Given the description of an element on the screen output the (x, y) to click on. 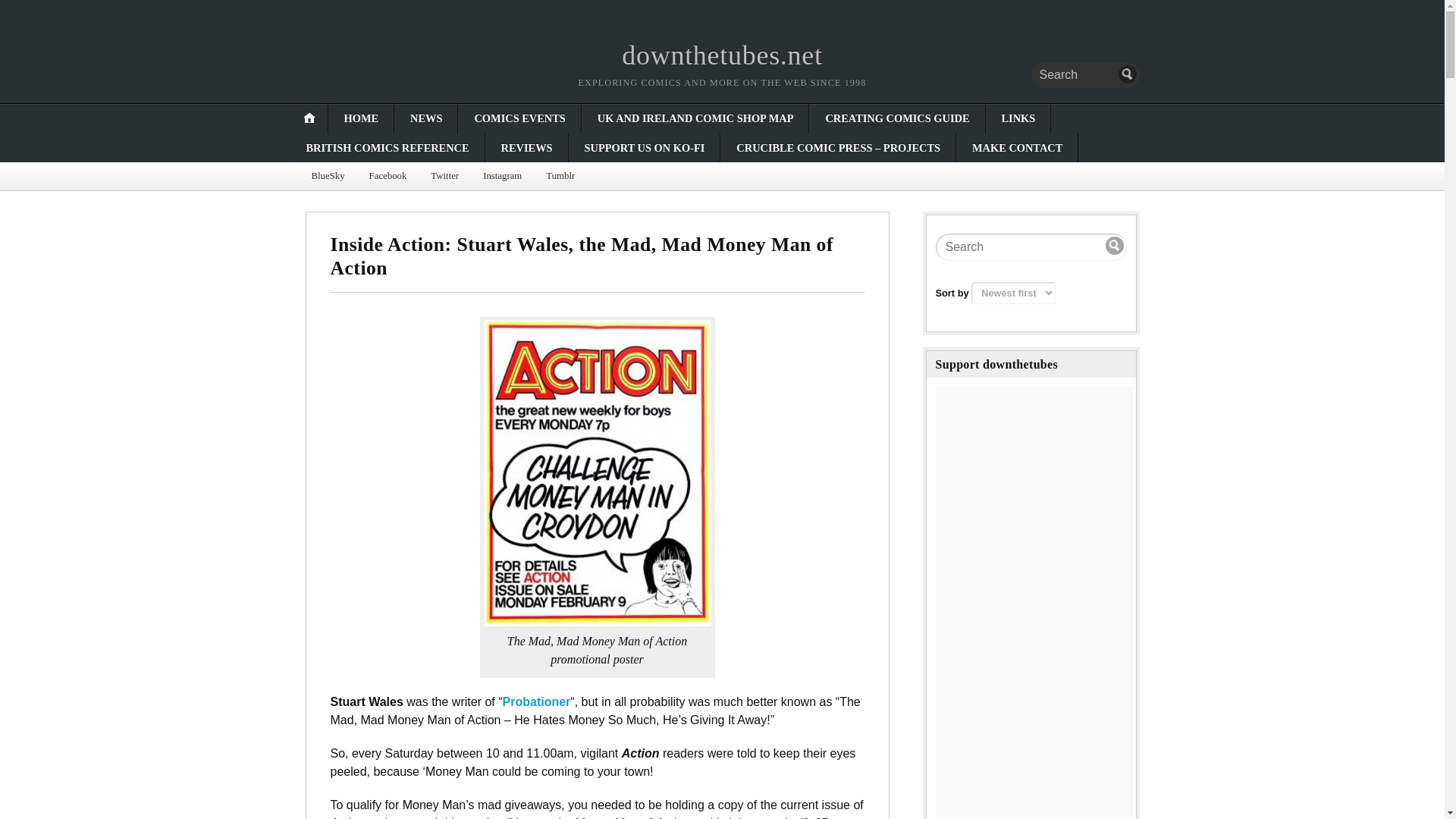
BRITISH COMICS REFERENCE (387, 147)
NEWS (425, 118)
CREATING COMICS GUIDE (896, 118)
UK AND IRELAND COMIC SHOP MAP (695, 118)
Home (721, 55)
HOME (361, 118)
COMICS EVENTS (518, 118)
downthetubes.net (721, 55)
LINKS (1017, 118)
